Given the description of an element on the screen output the (x, y) to click on. 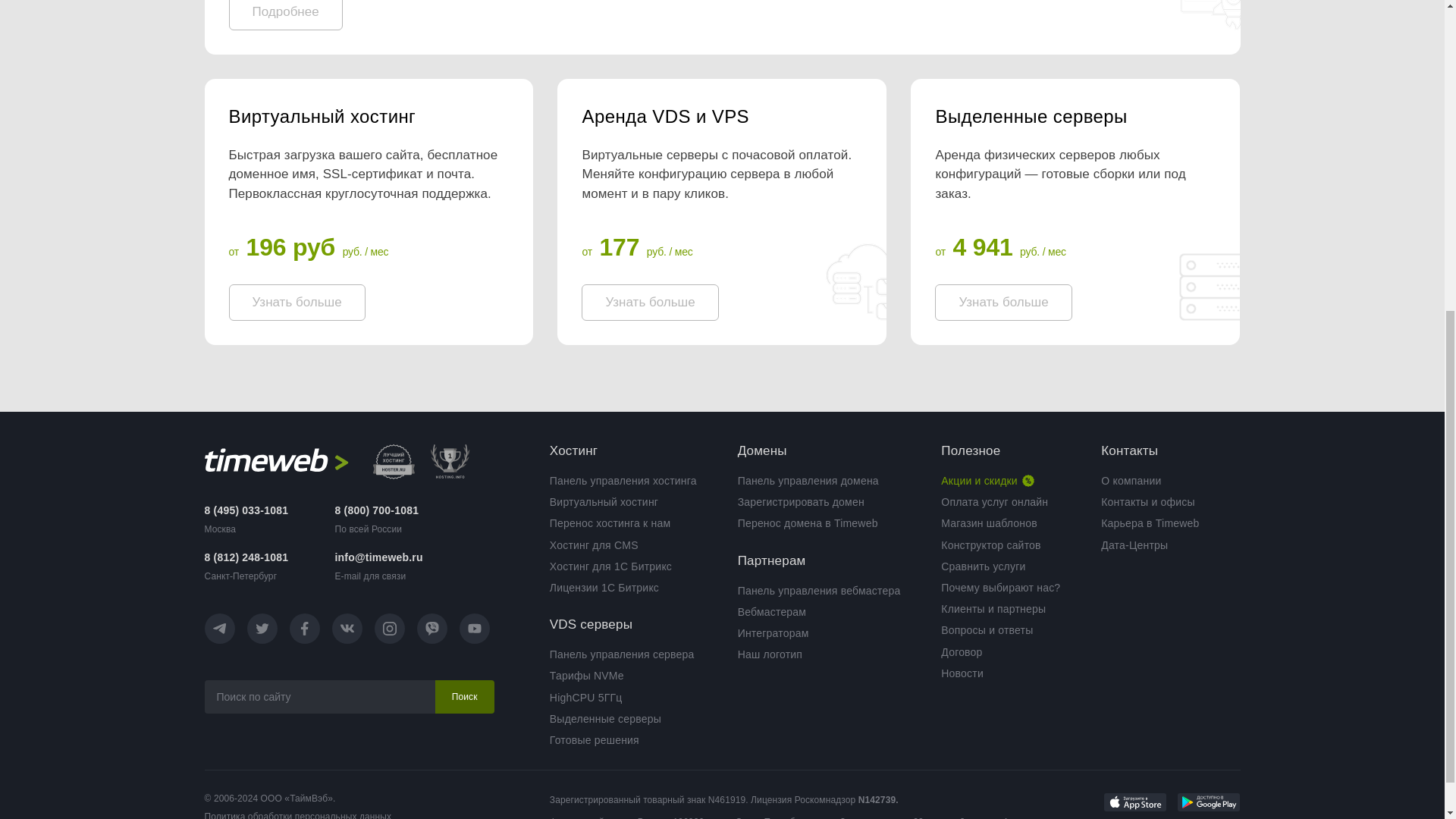
VDS (720, 116)
